Given the description of an element on the screen output the (x, y) to click on. 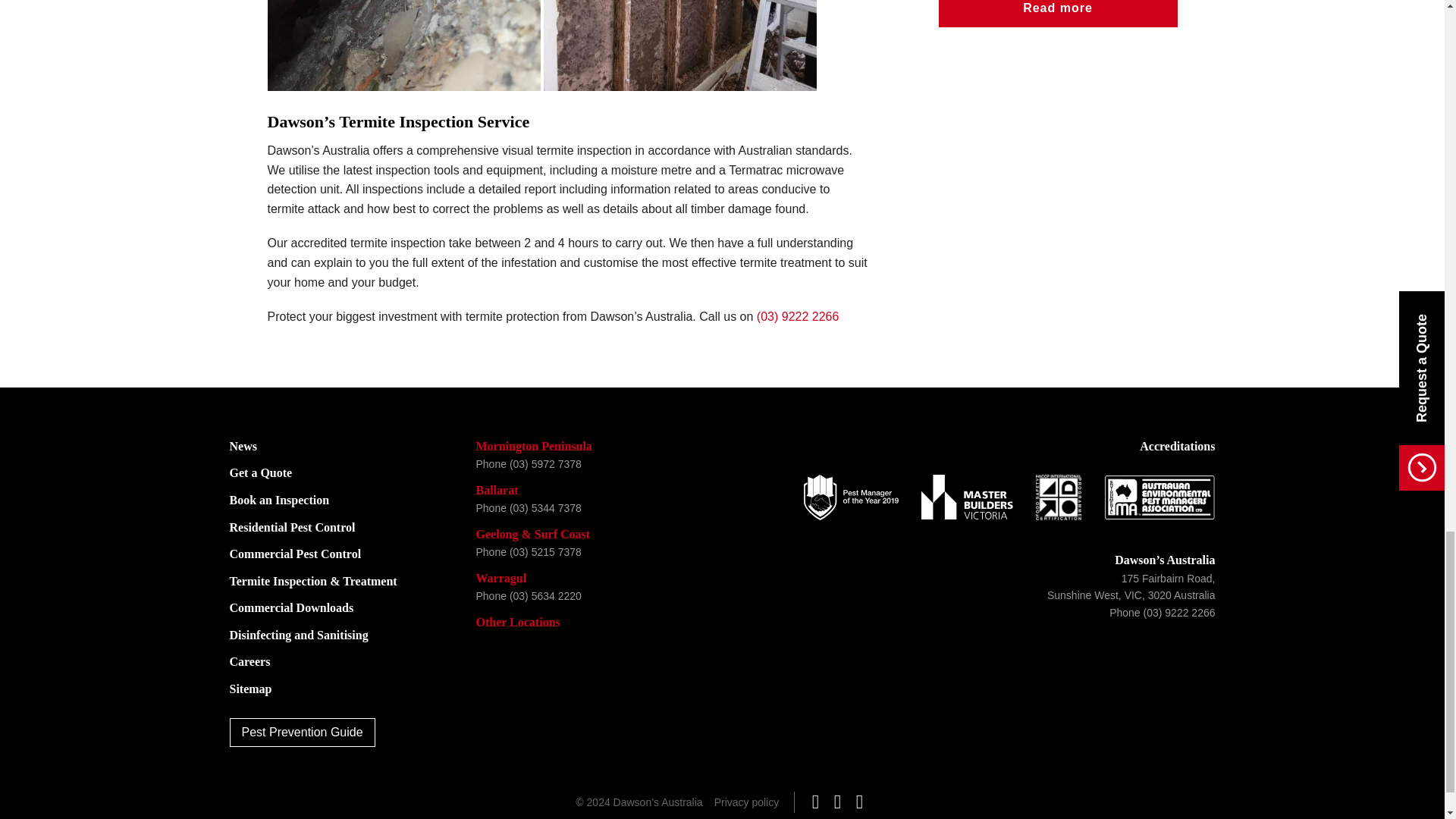
Read more (1058, 13)
News (242, 445)
Book an Inspection (278, 499)
Get a Quote (260, 472)
